Given the description of an element on the screen output the (x, y) to click on. 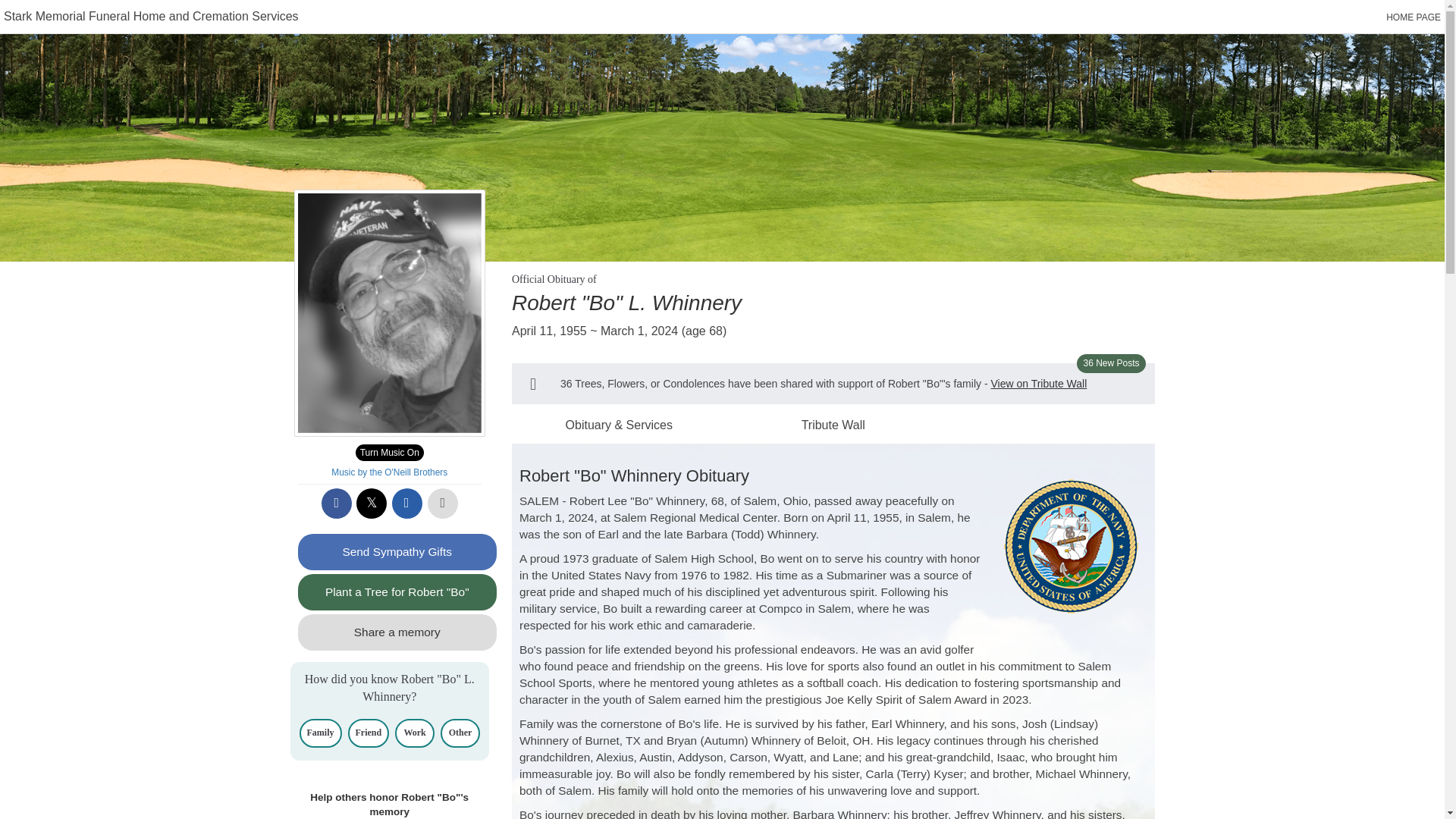
Stark Memorial Funeral Home and Cremation Services (151, 15)
Share via email (406, 503)
Printable copy (443, 503)
Music by the O'Neill Brothers (388, 471)
HOME PAGE (1413, 17)
Share to Facebook (336, 503)
Share a memory (396, 632)
Turn Music On (389, 452)
View on Tribute Wall (1038, 383)
Send Sympathy Gifts (396, 551)
Plant a Tree for Robert "Bo" (396, 592)
Share on X (371, 503)
